Given the description of an element on the screen output the (x, y) to click on. 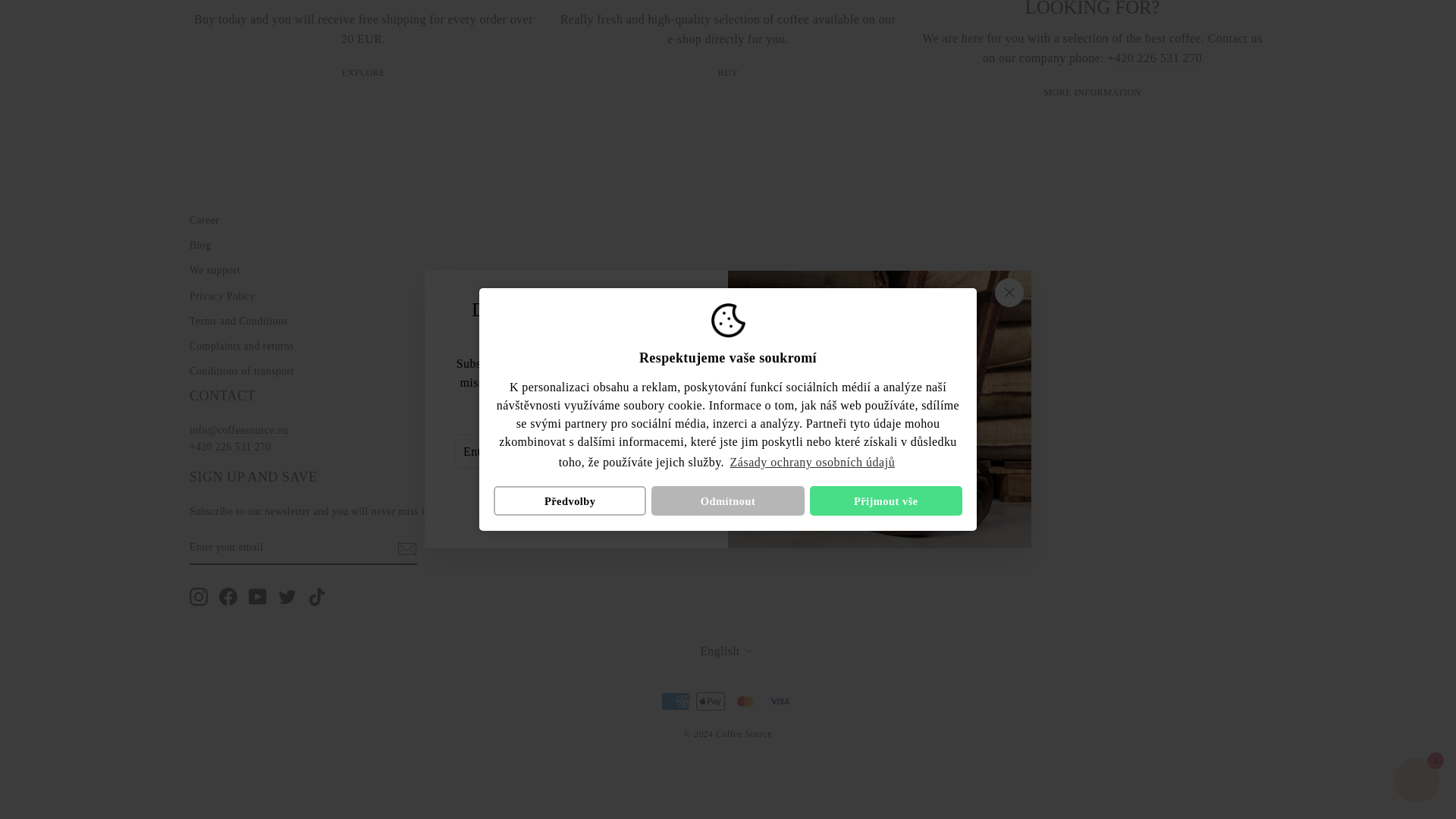
American Express (675, 701)
